Given the description of an element on the screen output the (x, y) to click on. 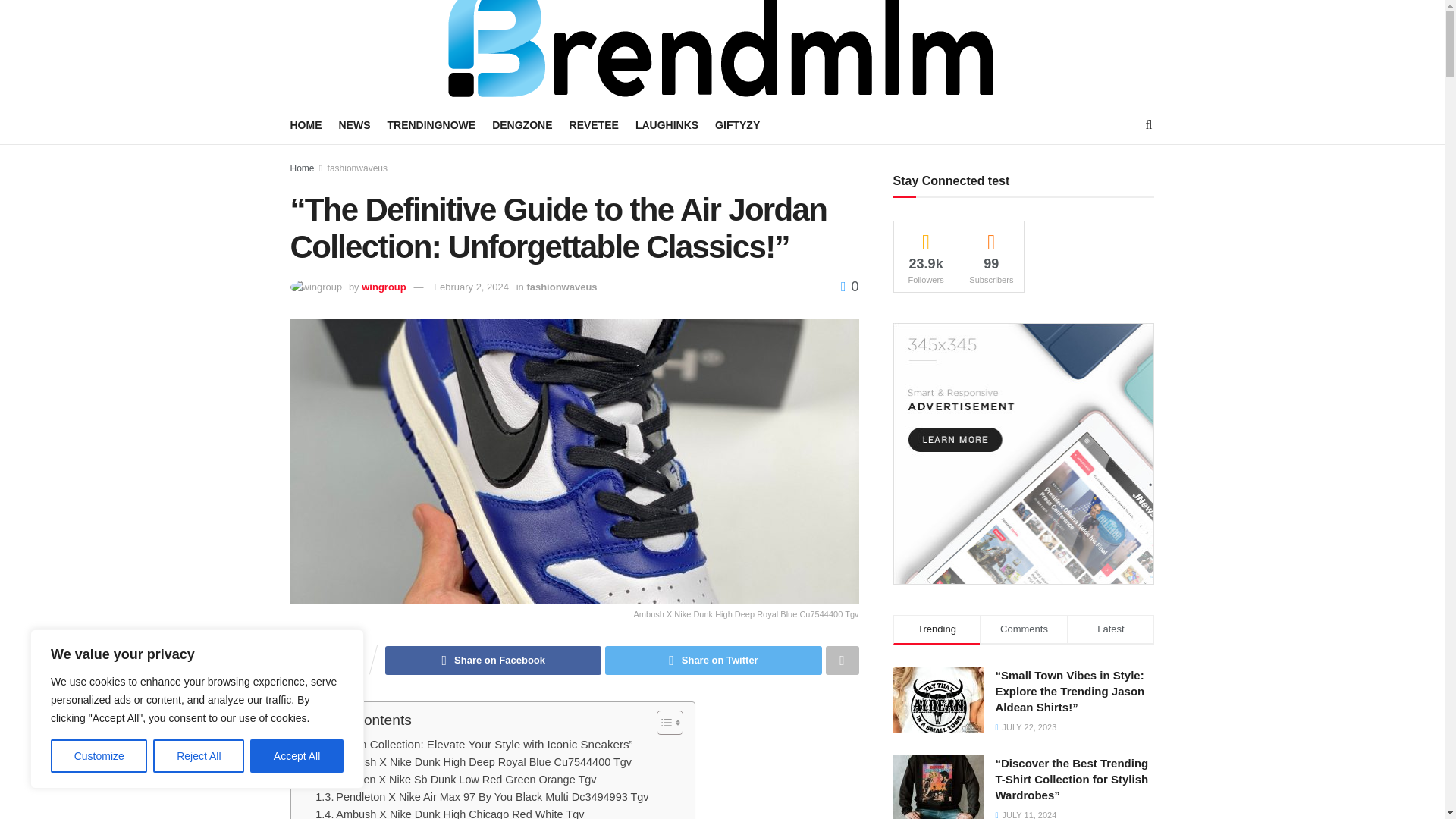
7Eleven X Nike Sb Dunk Low Red Green Orange  Tgv (455, 779)
Ambush X Nike Dunk High Deep Royal Blue Cu7544400  Tgv (473, 762)
Accept All (296, 756)
Ambush X Nike Dunk High Chicago Red White  Tgv (449, 812)
fashionwaveus (357, 167)
HOME (305, 124)
DENGZONE (521, 124)
LAUGHINKS (666, 124)
TRENDINGNOWE (431, 124)
GIFTYZY (737, 124)
Home (301, 167)
REVETEE (593, 124)
Reject All (198, 756)
